Given the description of an element on the screen output the (x, y) to click on. 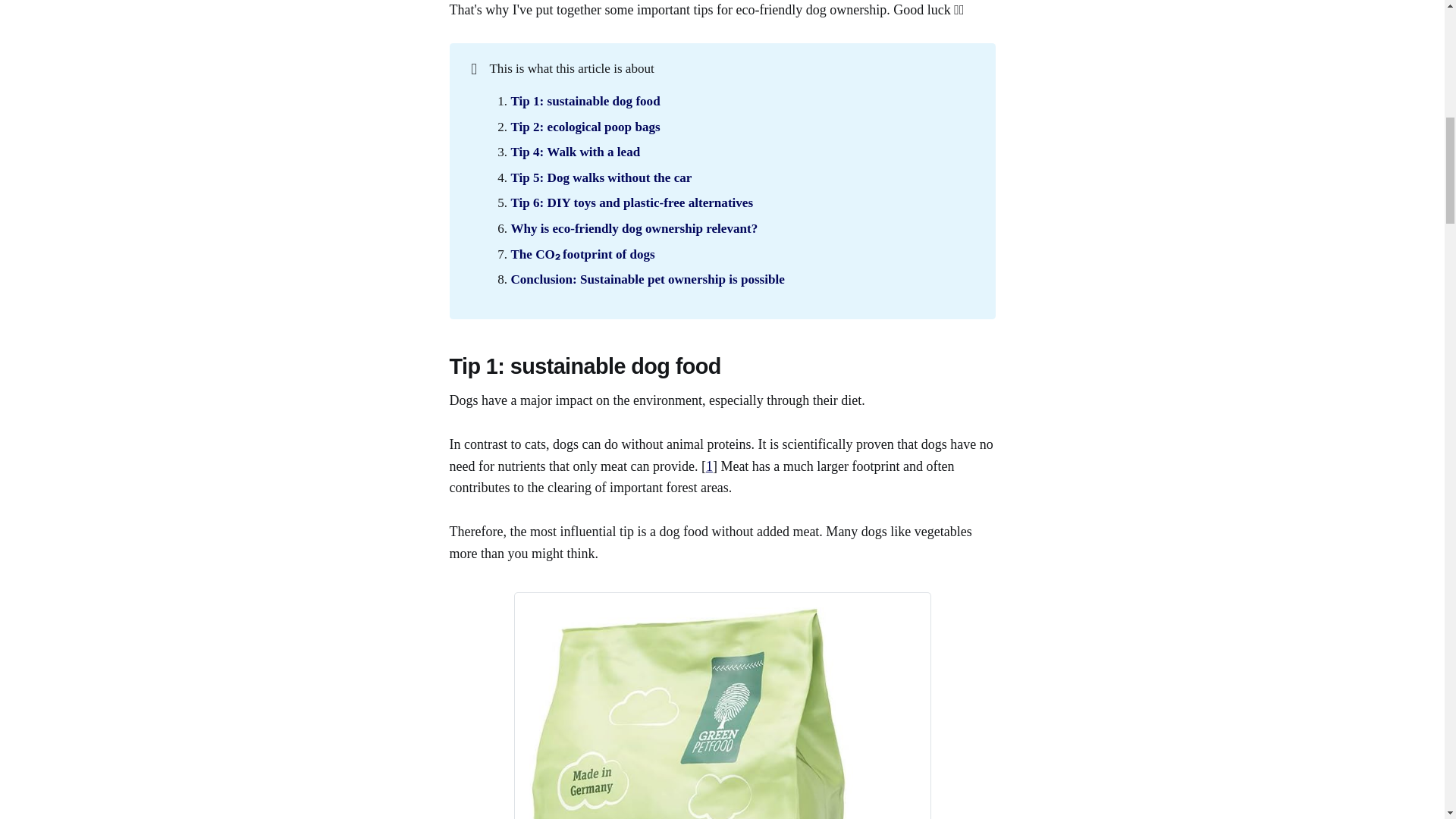
Conclusion: Sustainable pet ownership is possible (647, 278)
Tip 5: Dog walks without the car (601, 177)
Tip 4: Walk with a lead (575, 151)
Why is eco-friendly dog ownership relevant? (634, 228)
Tip 1: sustainable dog food (585, 101)
Tip 6: DIY toys and plastic-free alternatives (631, 202)
Tip 2: ecological poop bags (585, 126)
